Given the description of an element on the screen output the (x, y) to click on. 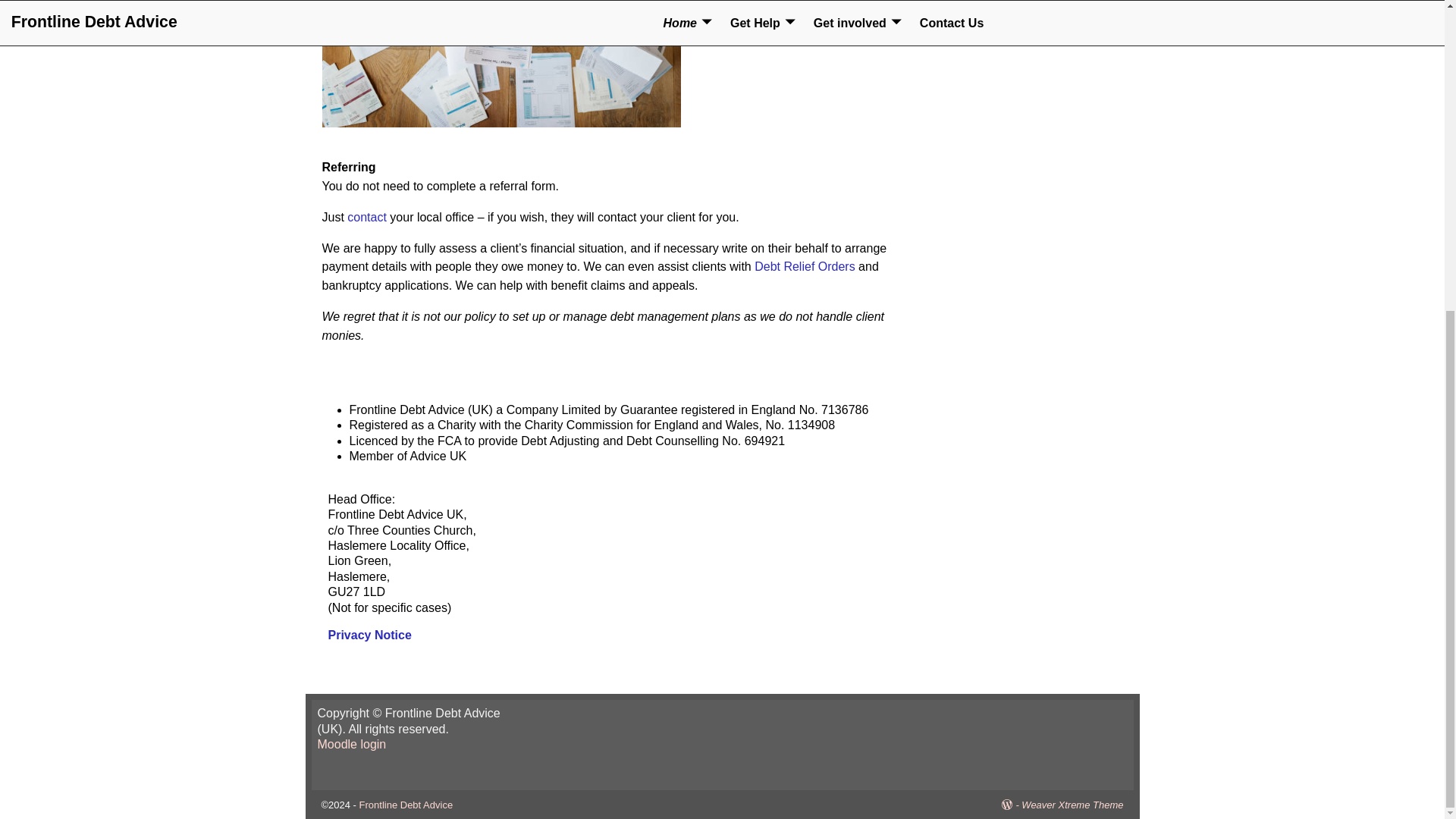
contact (367, 216)
Weaver Xtreme Theme (1072, 804)
Frontline Debt Advice (405, 804)
Proudly powered by WordPress (1011, 804)
- (1011, 804)
Weaver Xtreme Theme (1072, 804)
Debt Relief Orders (806, 266)
Moodle login (351, 744)
Frontline Debt Advice (405, 804)
Privacy Notice (368, 634)
